Given the description of an element on the screen output the (x, y) to click on. 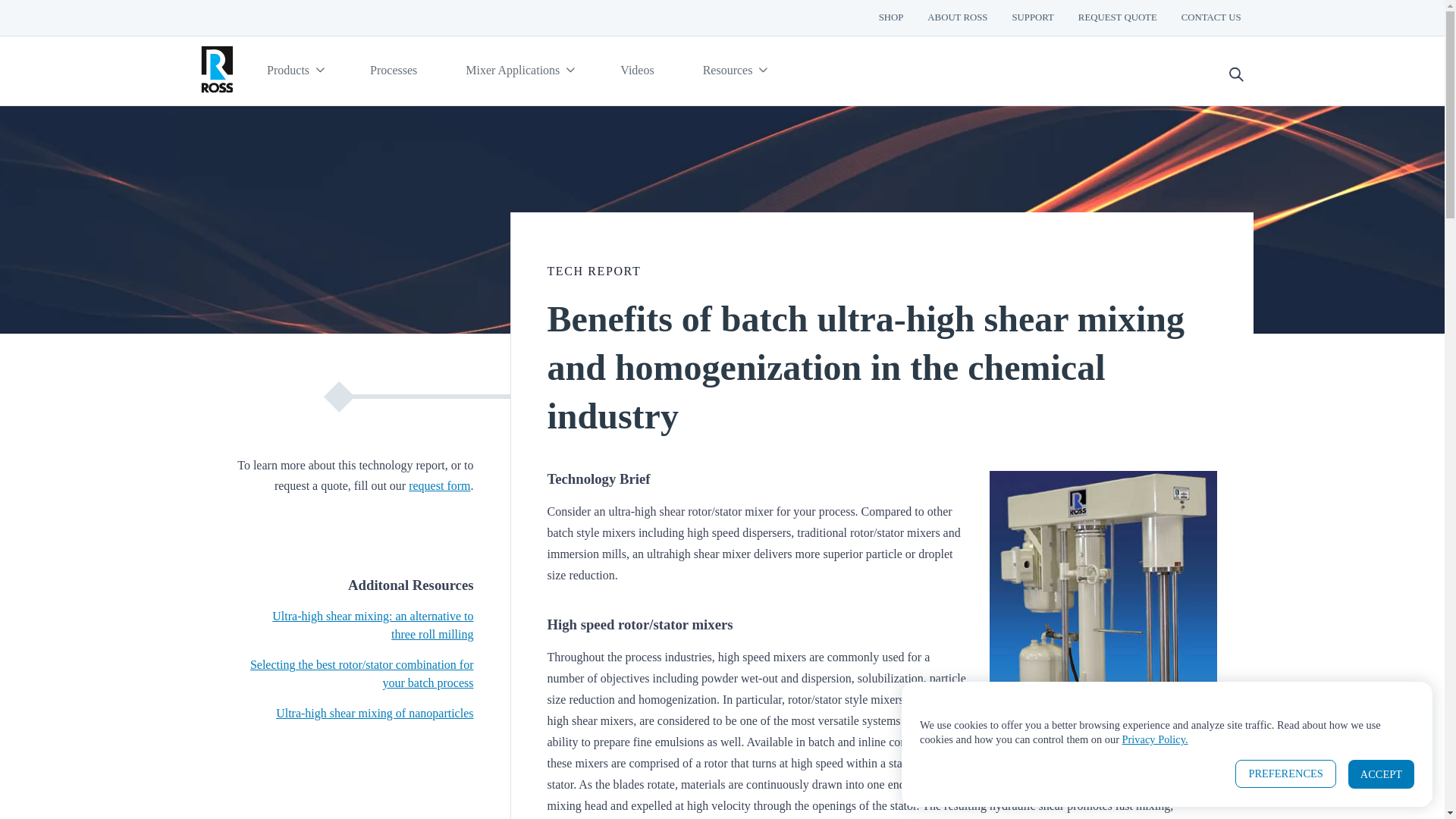
ABOUT ROSS (956, 18)
SHOP (890, 18)
Processes (393, 70)
SUPPORT (1031, 18)
Products (294, 70)
REQUEST QUOTE (1117, 18)
Mixer Applications (518, 70)
Resources (733, 70)
CONTACT US (1211, 18)
Videos (636, 70)
